Given the description of an element on the screen output the (x, y) to click on. 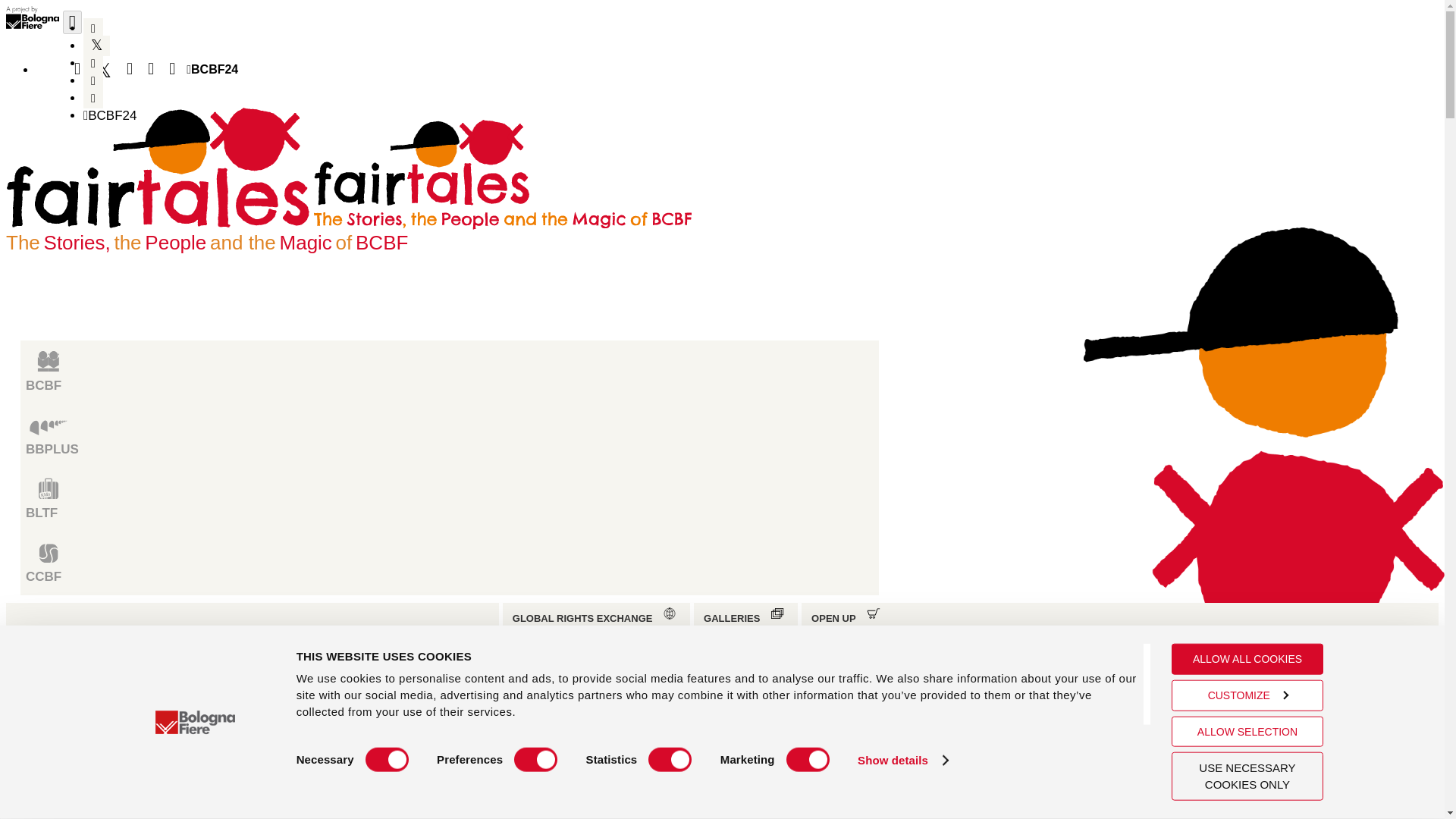
follow us on: Youtube (92, 80)
follow us on: Instagram (92, 97)
follow us on: Facebook (92, 28)
Show details (902, 759)
follow us on: Linkedin (92, 63)
follow us on: Twitter (96, 46)
